Given the description of an element on the screen output the (x, y) to click on. 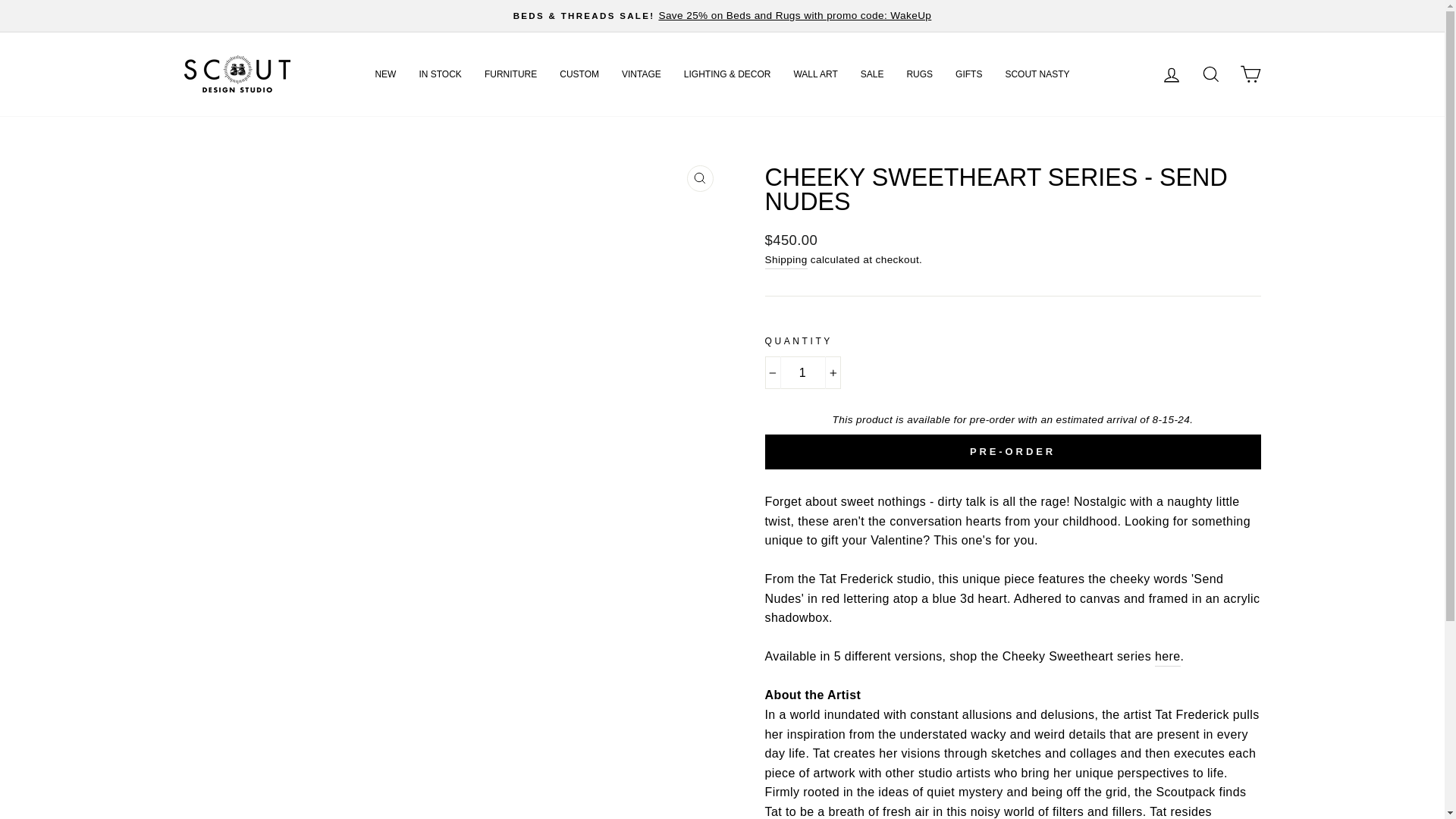
1 (802, 372)
